Given the description of an element on the screen output the (x, y) to click on. 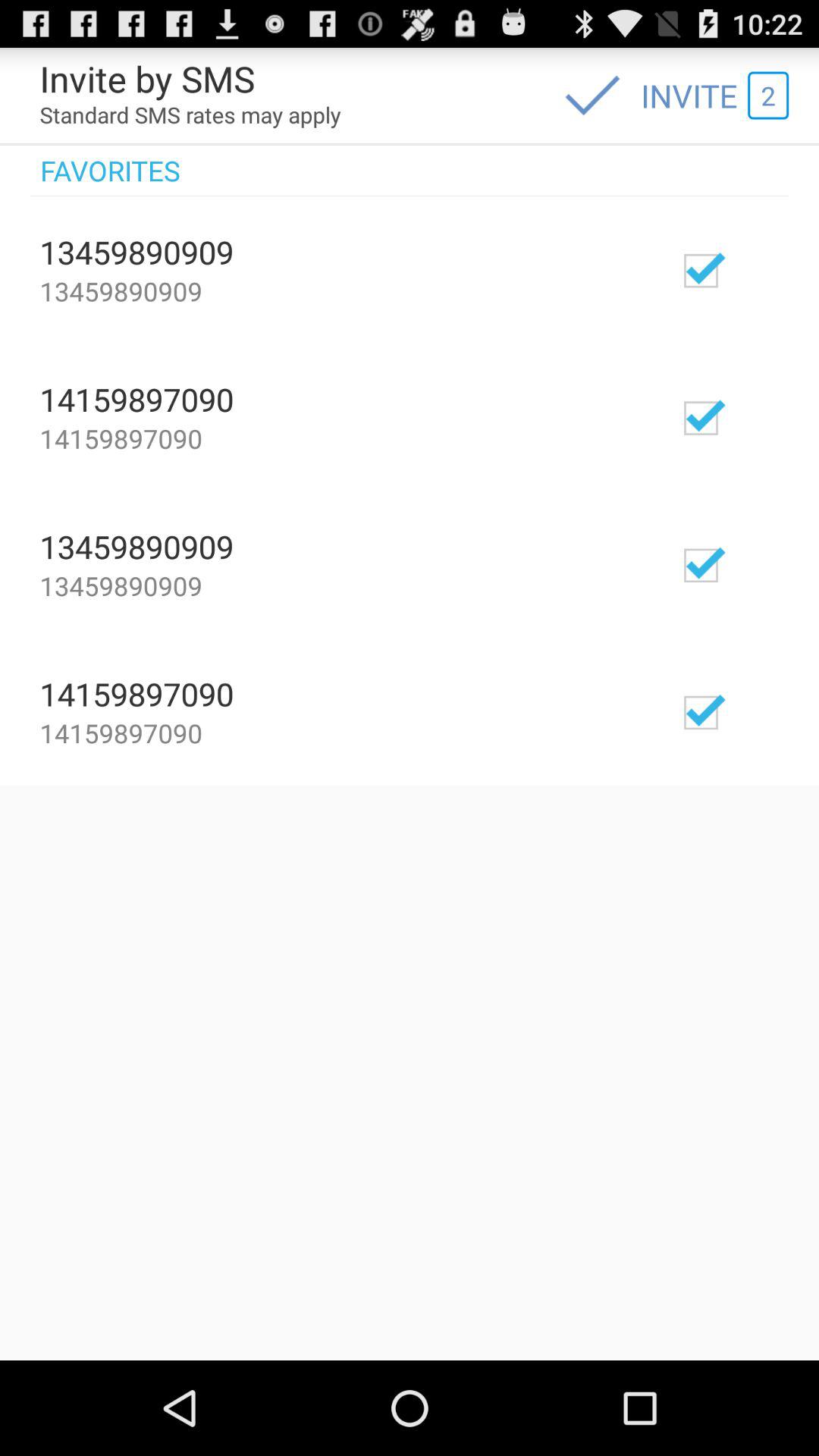
invite (745, 711)
